Given the description of an element on the screen output the (x, y) to click on. 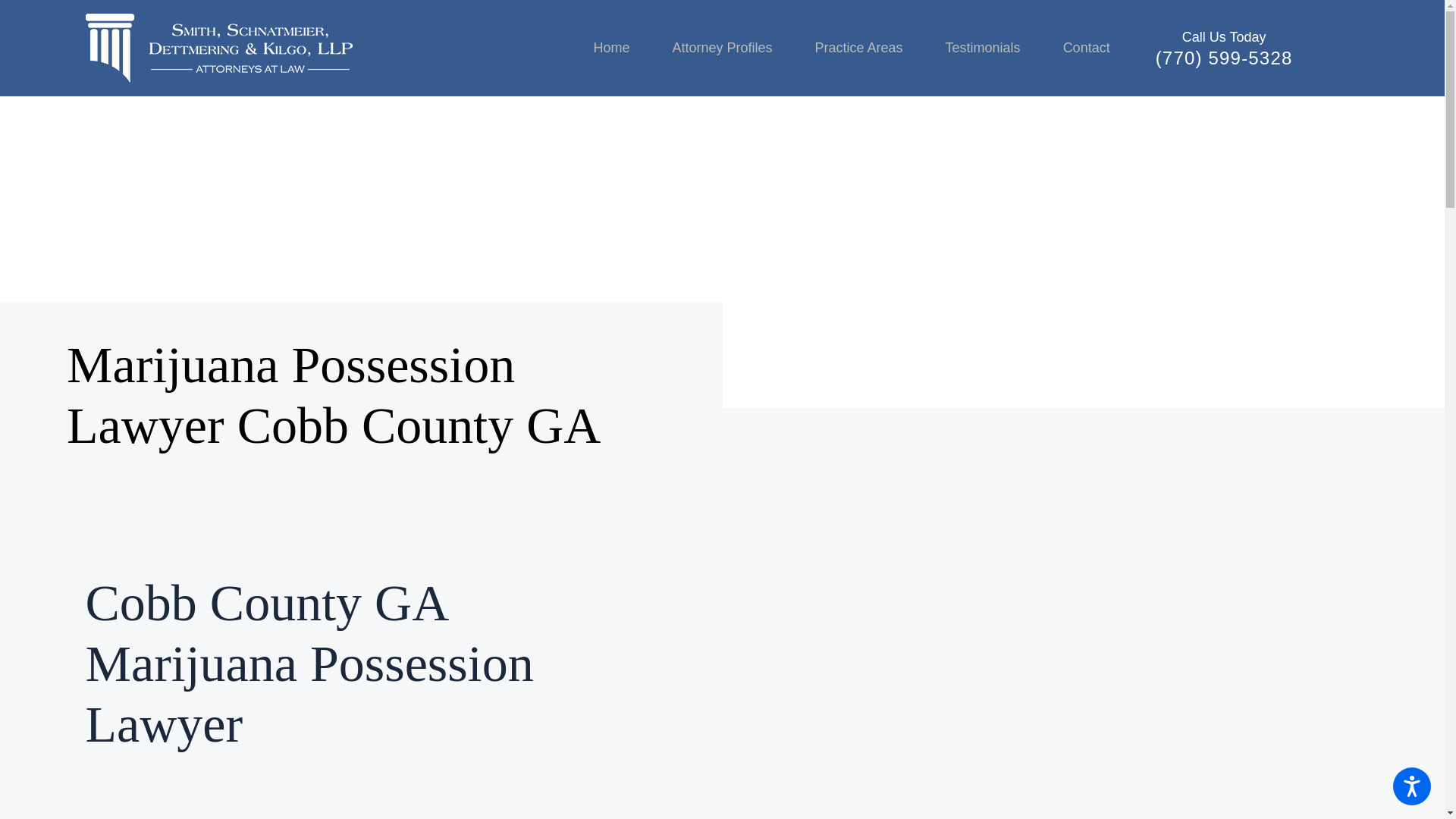
Attorney Profiles (721, 48)
Home (621, 48)
Open the accessibility options menu (1412, 786)
Practice Areas (858, 48)
